Given the description of an element on the screen output the (x, y) to click on. 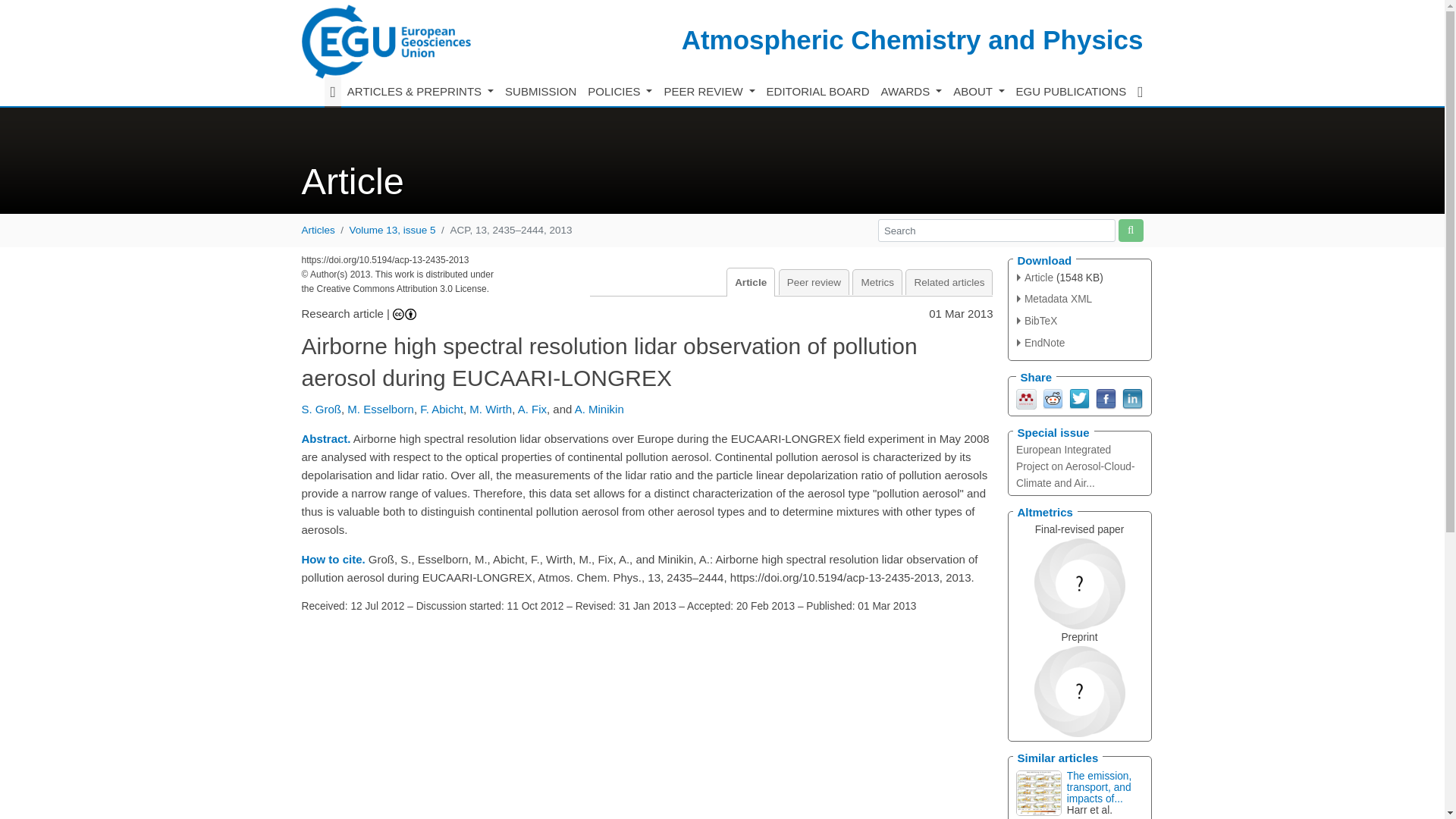
Atmospheric Chemistry and Physics (911, 39)
Twitter (1078, 397)
POLICIES (620, 91)
Reddit (1052, 397)
Mendeley (1026, 397)
Start site search (1130, 229)
XML Version (1054, 298)
SUBMISSION (540, 91)
